Given the description of an element on the screen output the (x, y) to click on. 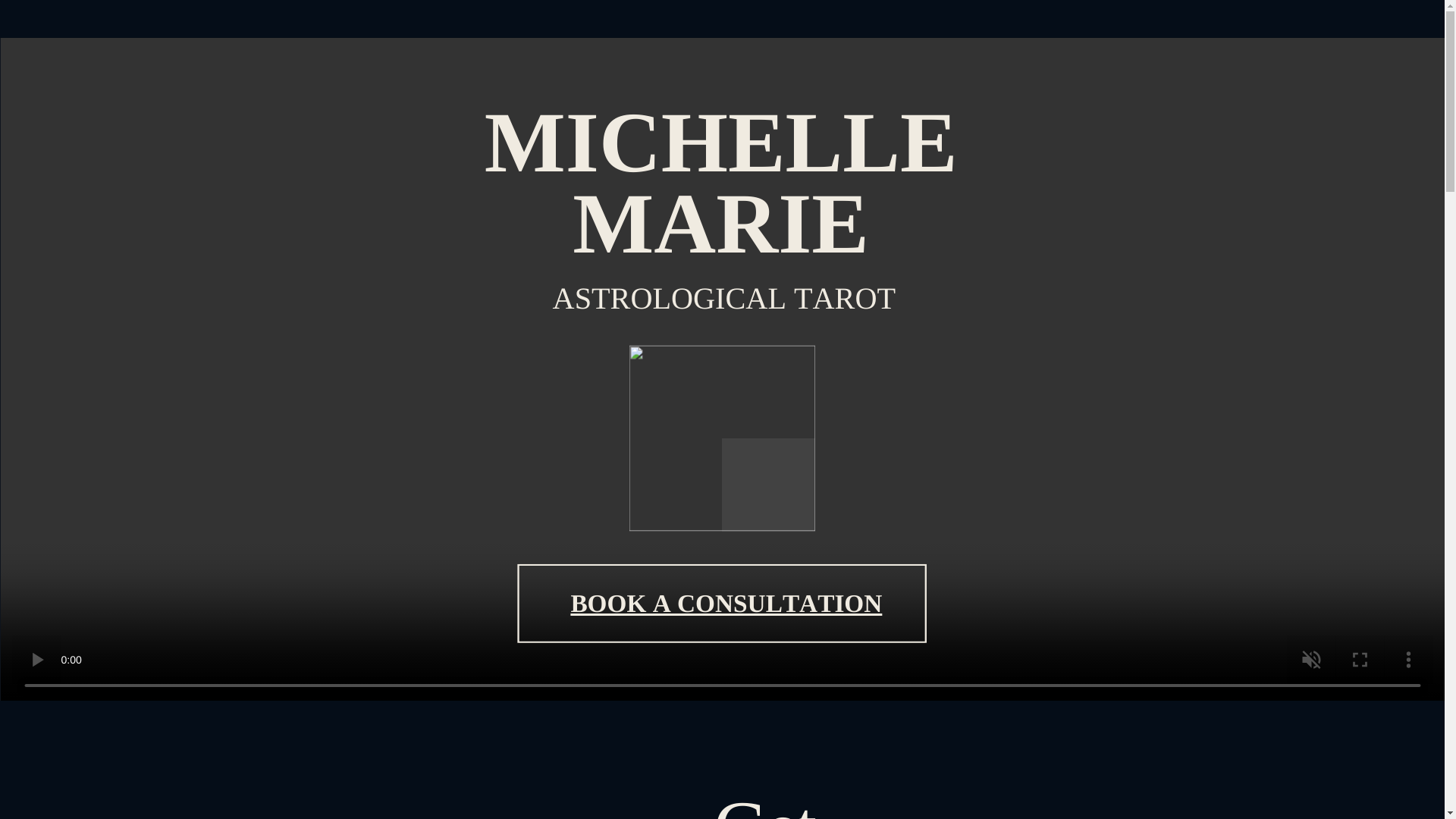
BOOK A CONSULTATION (726, 603)
